Given the description of an element on the screen output the (x, y) to click on. 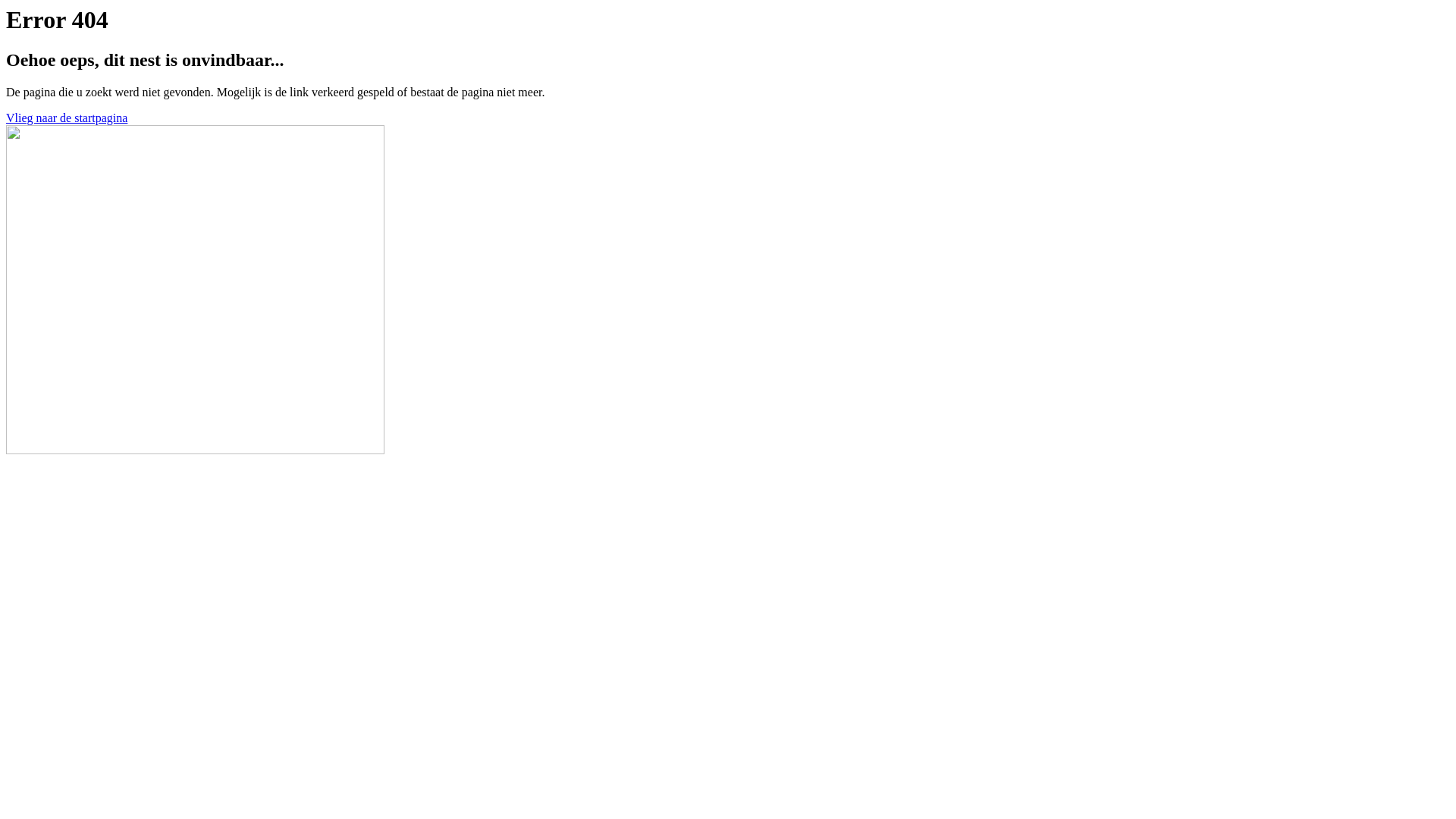
Vlieg naar de startpagina Element type: text (66, 117)
